Given the description of an element on the screen output the (x, y) to click on. 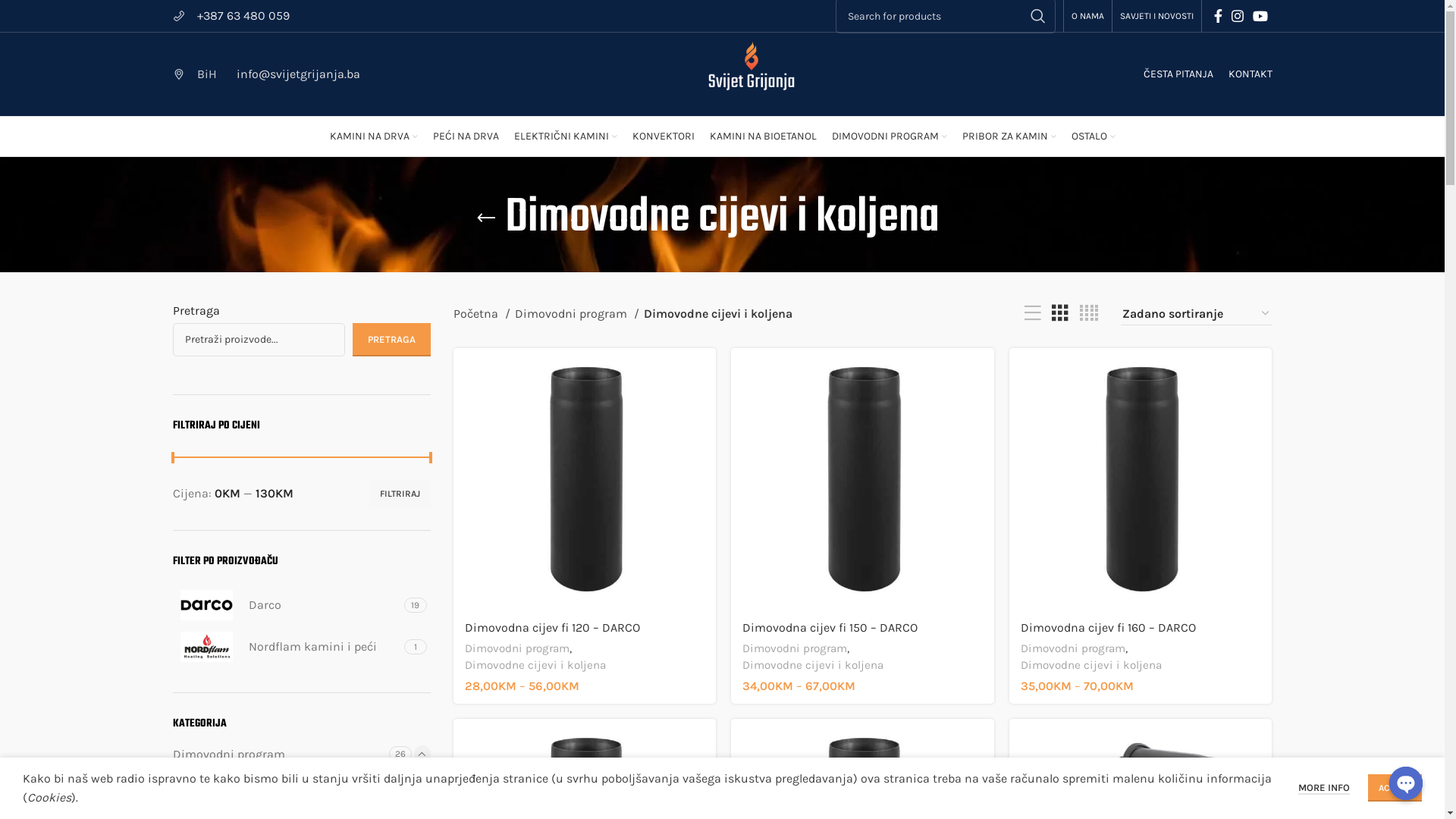
+387 63 480 059 Element type: text (243, 15)
Dimovodni program Element type: text (1072, 648)
info@svijetgrijanja.ba Element type: text (296, 73)
FILTRIRAJ Element type: text (398, 493)
PRETRAGA Element type: text (390, 339)
DIMOVODNI PROGRAM Element type: text (888, 136)
KAMINI NA DRVA Element type: text (373, 136)
+387 63 480 059 Element type: text (230, 15)
KONTAKT Element type: text (1250, 74)
Dimovodne cijevi i koljena Element type: text (534, 665)
Dimovodni program Element type: text (794, 648)
SAVJETI I NOVOSTI Element type: text (1155, 15)
BiH Element type: text (194, 74)
MORE INFO Element type: text (1323, 787)
Dimovodni program Element type: text (576, 313)
Dimovodni program Element type: text (516, 648)
Dimovodni program Element type: text (280, 754)
Dimovodne cijevi i koljena Element type: text (1090, 665)
OSTALO Element type: text (1092, 136)
Darco Element type: text (286, 605)
O NAMA Element type: text (1086, 15)
ACCEPT Element type: text (1394, 787)
KAMINI NA BIOETANOL Element type: text (762, 136)
KONVEKTORI Element type: text (663, 136)
PRIBOR ZA KAMIN Element type: text (1008, 136)
Dimovodne cijevi i koljena Element type: text (812, 665)
Kape za dimnjak Element type: text (285, 783)
